Given the description of an element on the screen output the (x, y) to click on. 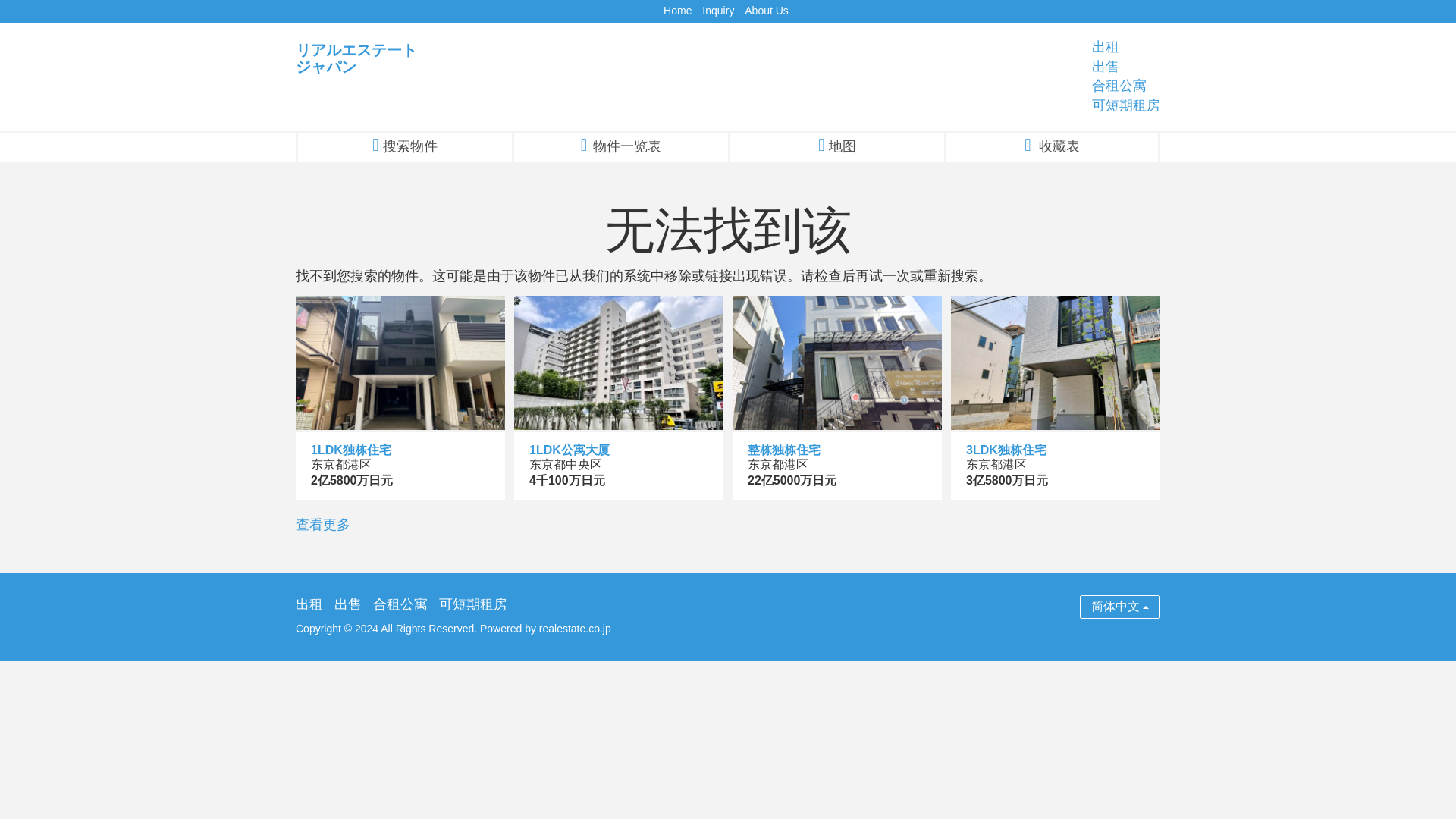
About Us (766, 10)
realestate.co.jp (574, 628)
realestate.co.jp (574, 628)
Inquiry (717, 10)
About Us (766, 10)
Home (677, 10)
Inquiry (717, 10)
Home (677, 10)
